Given the description of an element on the screen output the (x, y) to click on. 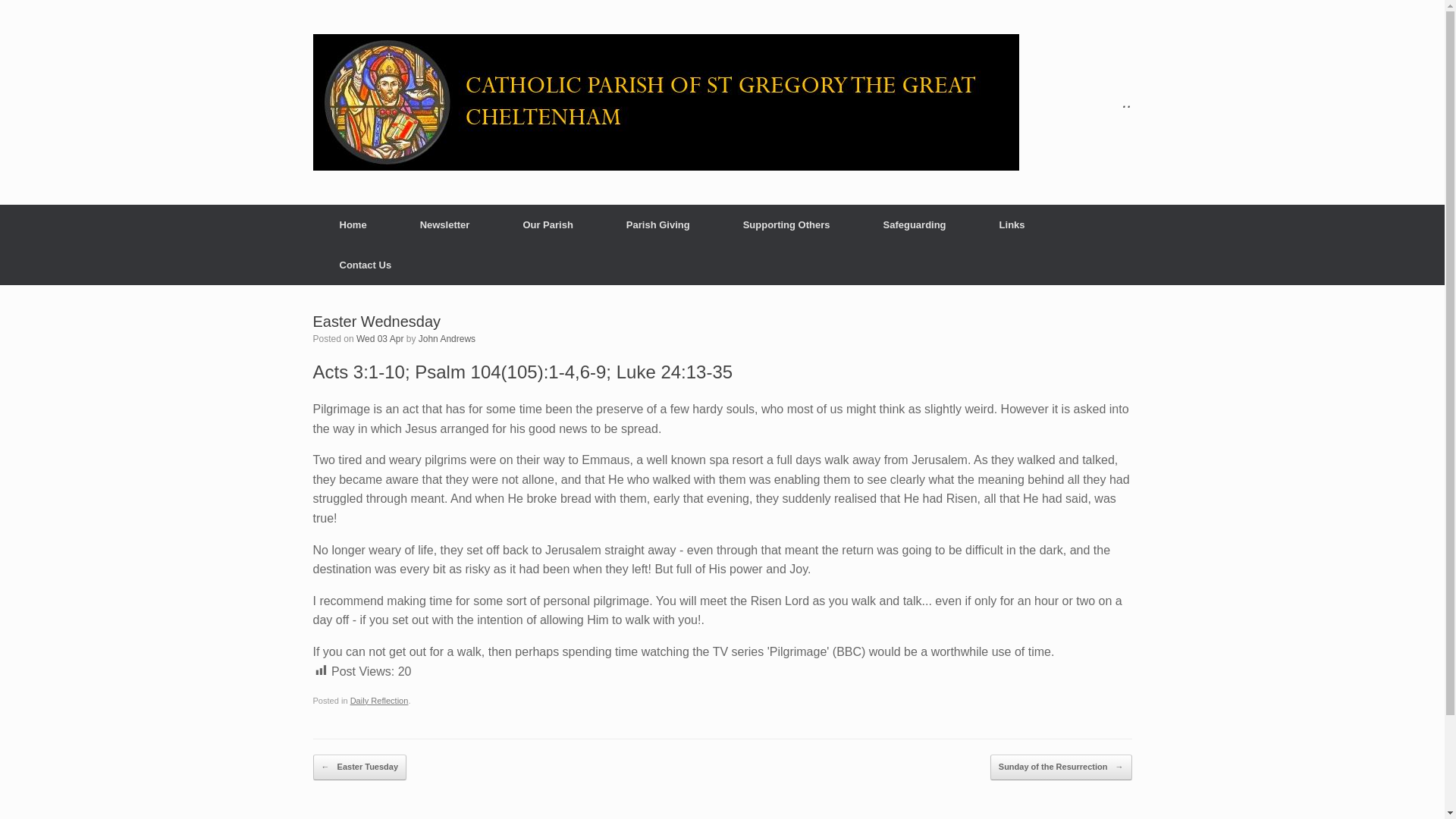
Wed 03 Apr (379, 338)
Our Parish (547, 224)
Contact Us (365, 264)
John Andrews (447, 338)
Newsletter (444, 224)
Links (1011, 224)
St Gregorys Church (665, 102)
Safeguarding (914, 224)
Daily Reflection (379, 700)
Home (353, 224)
Parish Giving (657, 224)
09:15 (379, 338)
Supporting Others (786, 224)
View all posts by John Andrews (447, 338)
